Given the description of an element on the screen output the (x, y) to click on. 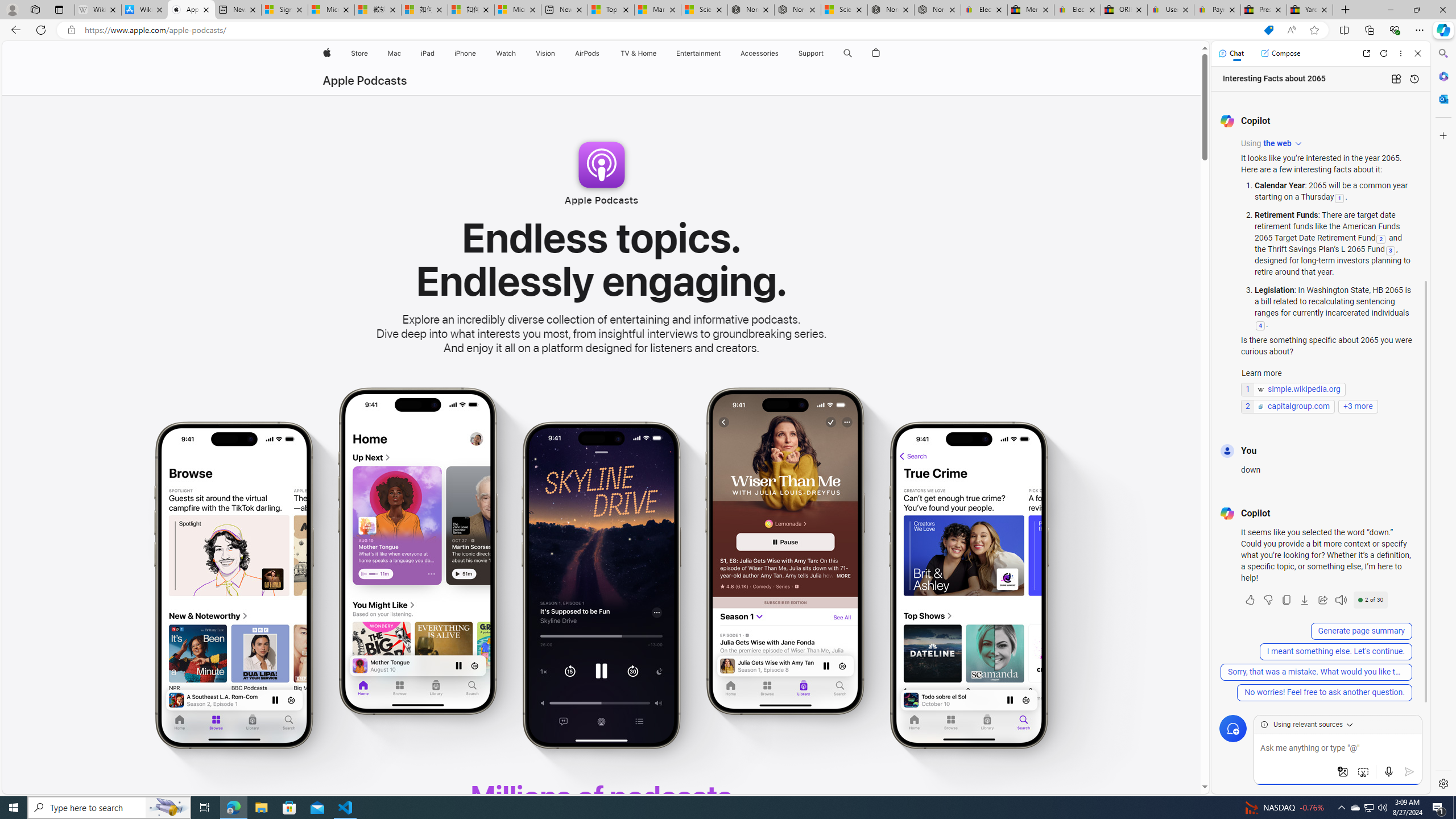
Microsoft Services Agreement (330, 9)
Mac menu (402, 53)
Support (810, 53)
iPad menu (435, 53)
Store (359, 53)
Watch (506, 53)
Nordace - Summer Adventures 2024 (890, 9)
iPhone (464, 53)
Vision menu (557, 53)
